Given the description of an element on the screen output the (x, y) to click on. 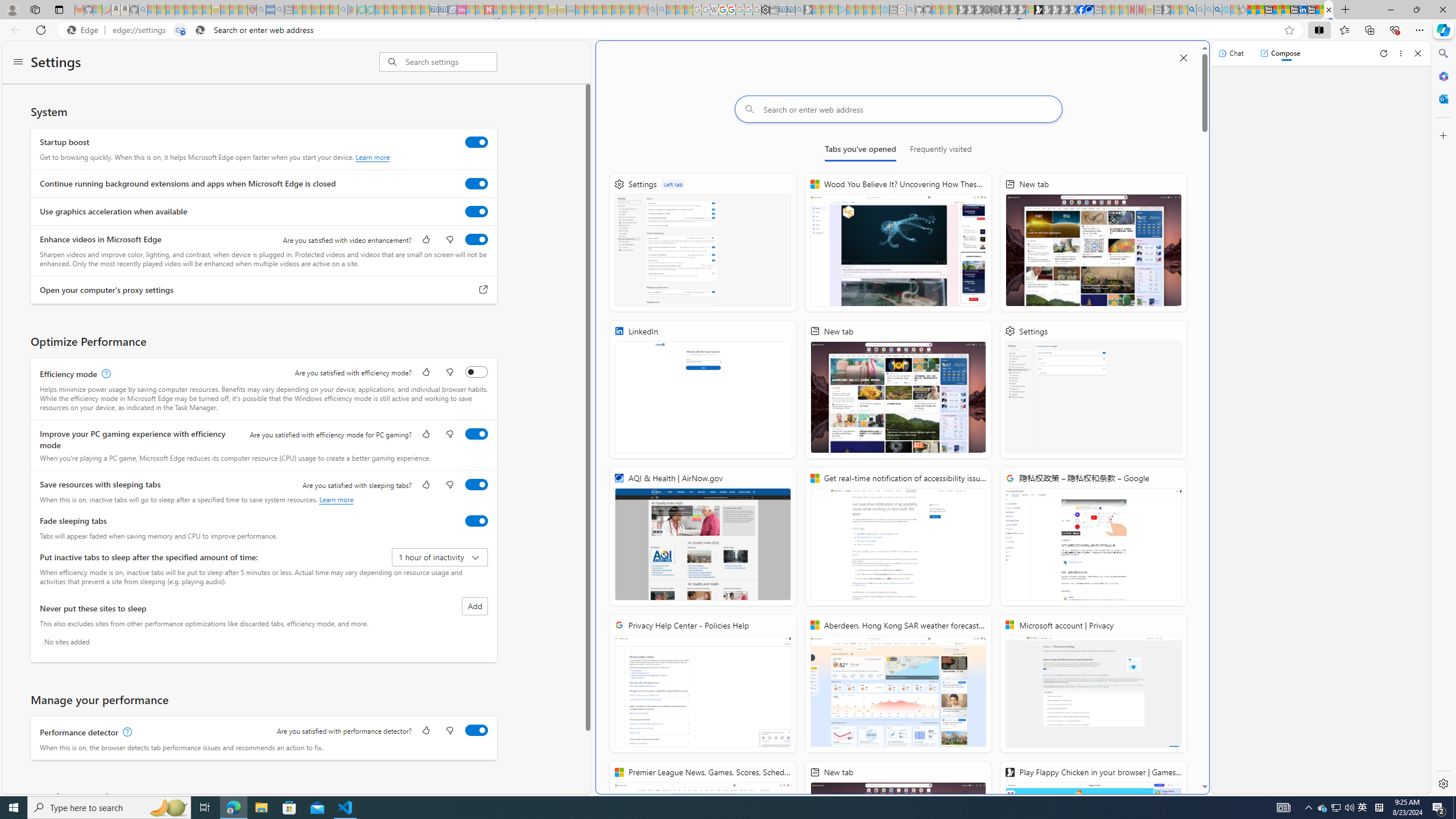
Open your computer's proxy settings (483, 290)
Sign in to your account - Sleeping (1029, 9)
Google Chrome Internet Browser Download - Search Images (1217, 9)
